Given the description of an element on the screen output the (x, y) to click on. 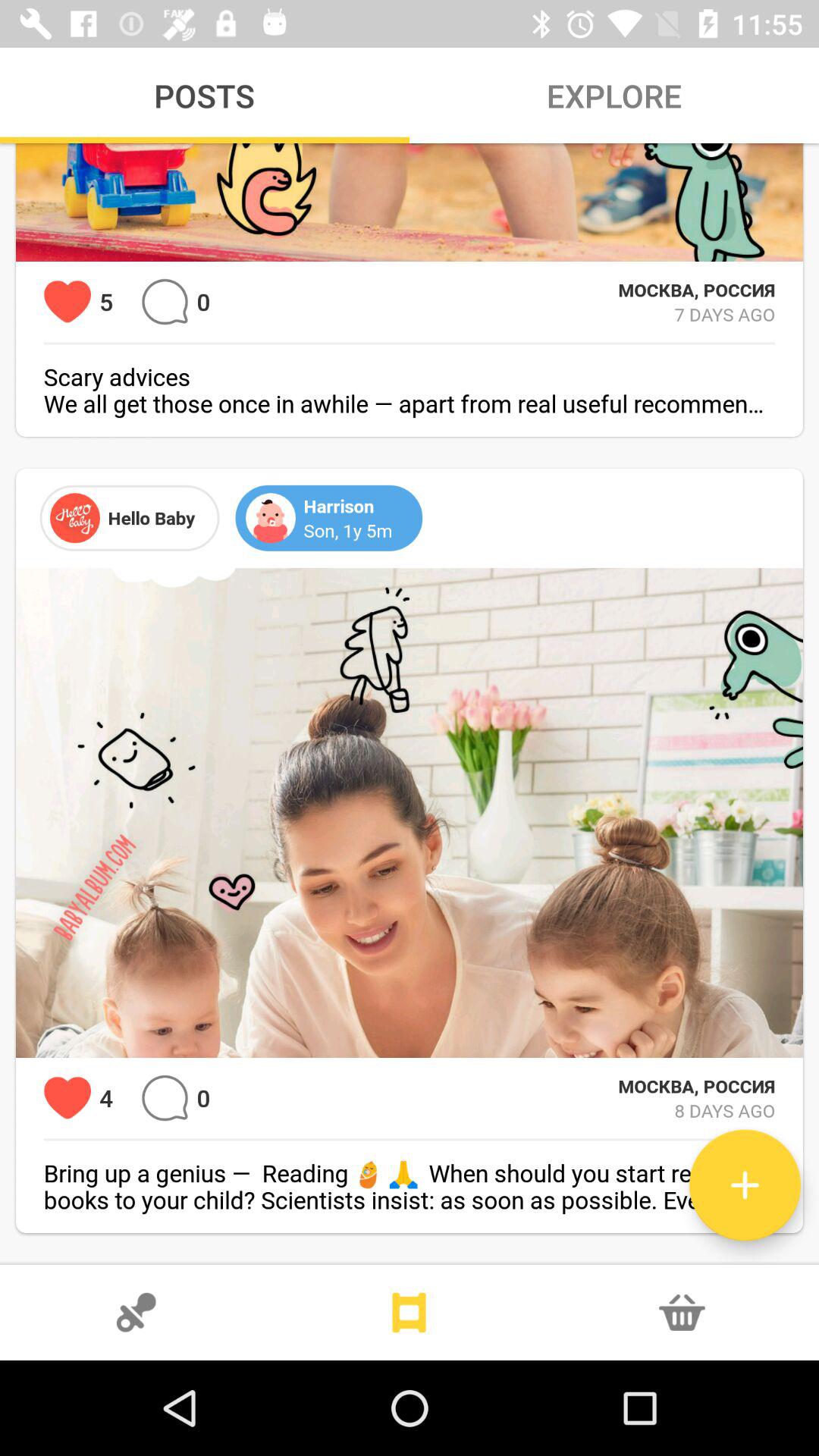
go to menu (409, 1312)
